Given the description of an element on the screen output the (x, y) to click on. 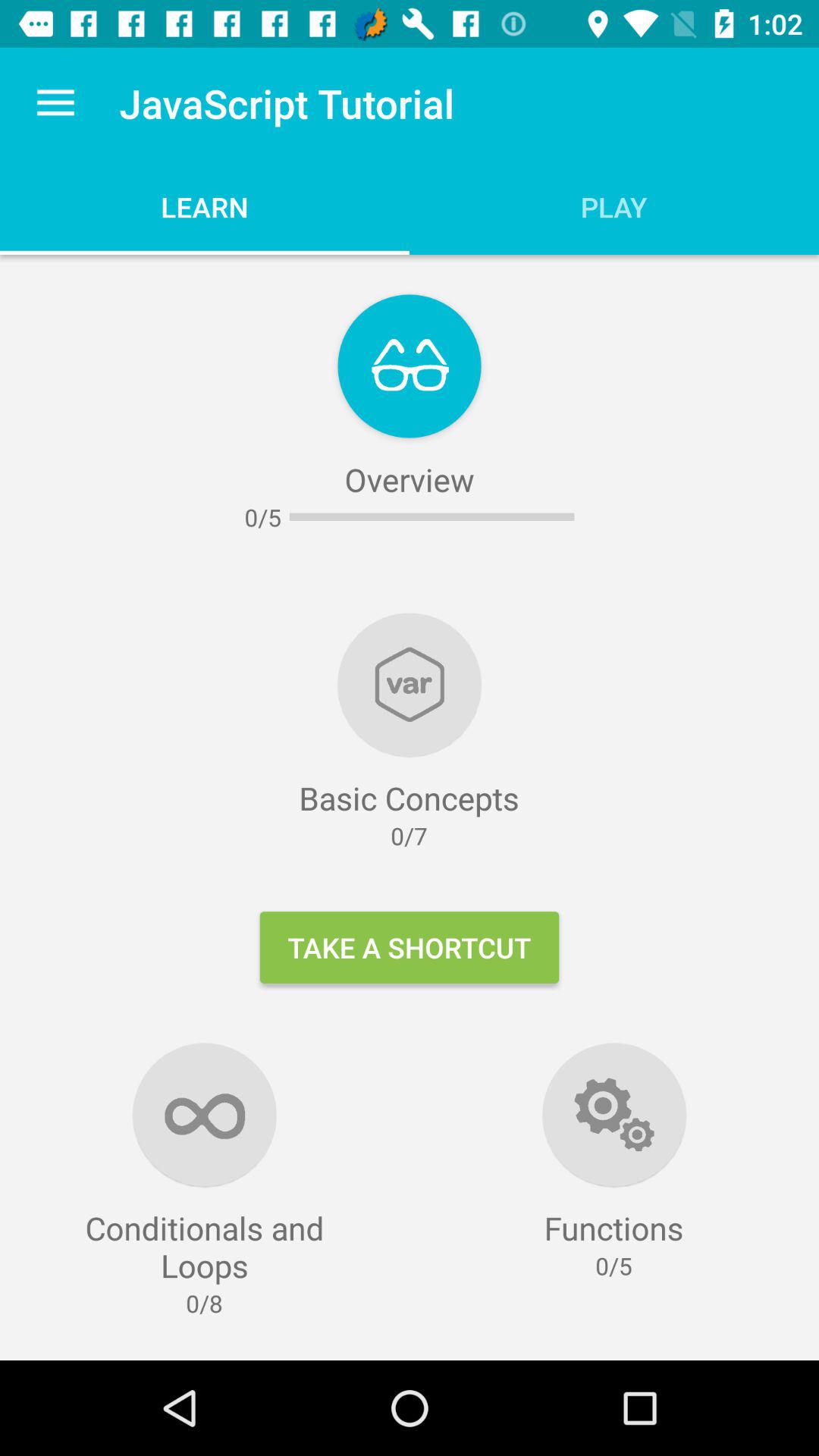
click on the symbol just above conditionals and loops (204, 1114)
icon above overview text (409, 365)
click icon above functions (614, 1114)
